Given the description of an element on the screen output the (x, y) to click on. 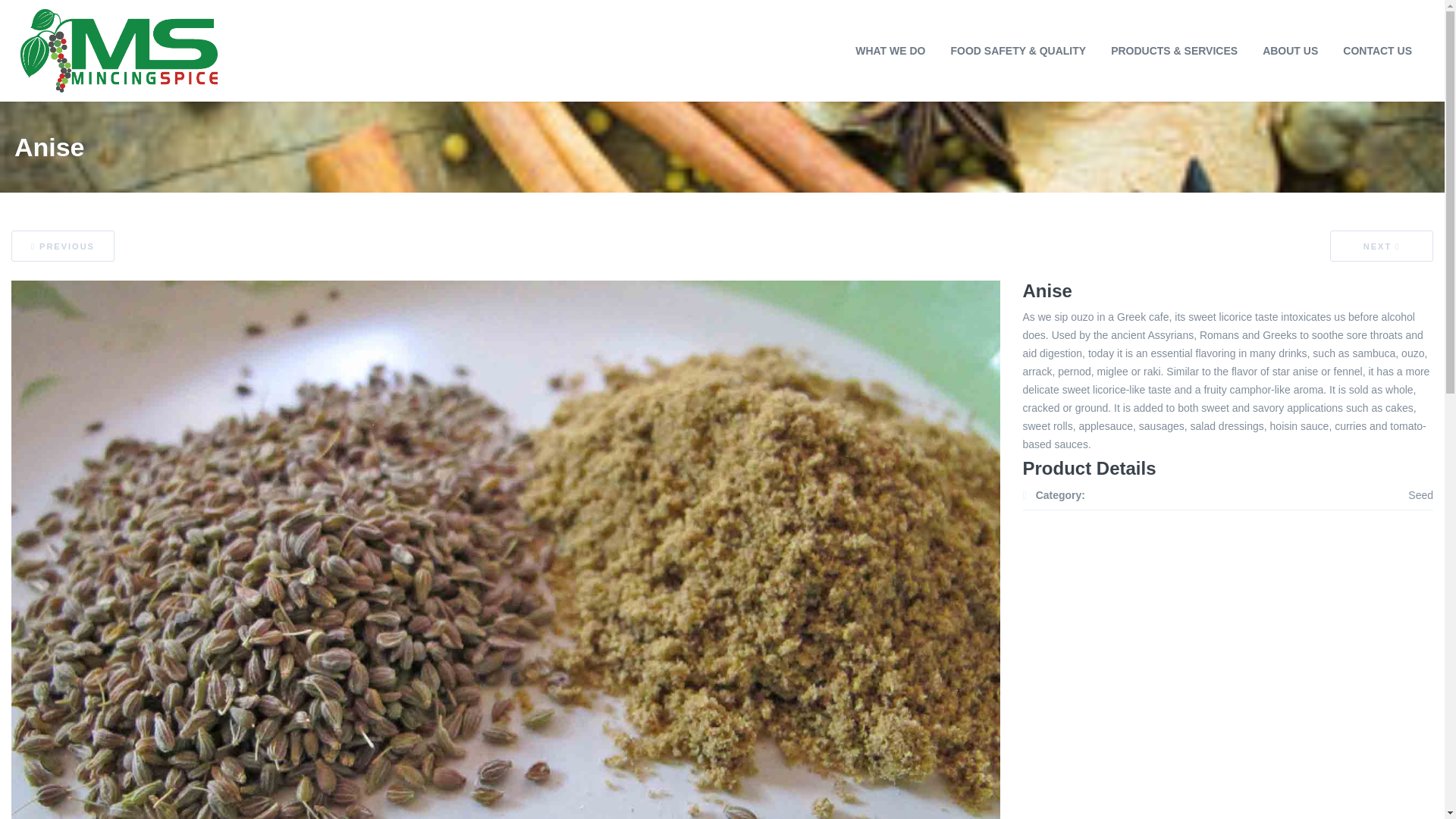
NEXT (1381, 245)
PREVIOUS (63, 245)
ABOUT US (1289, 50)
CONTACT US (1376, 50)
Logo (118, 50)
WHAT WE DO (890, 50)
